Given the description of an element on the screen output the (x, y) to click on. 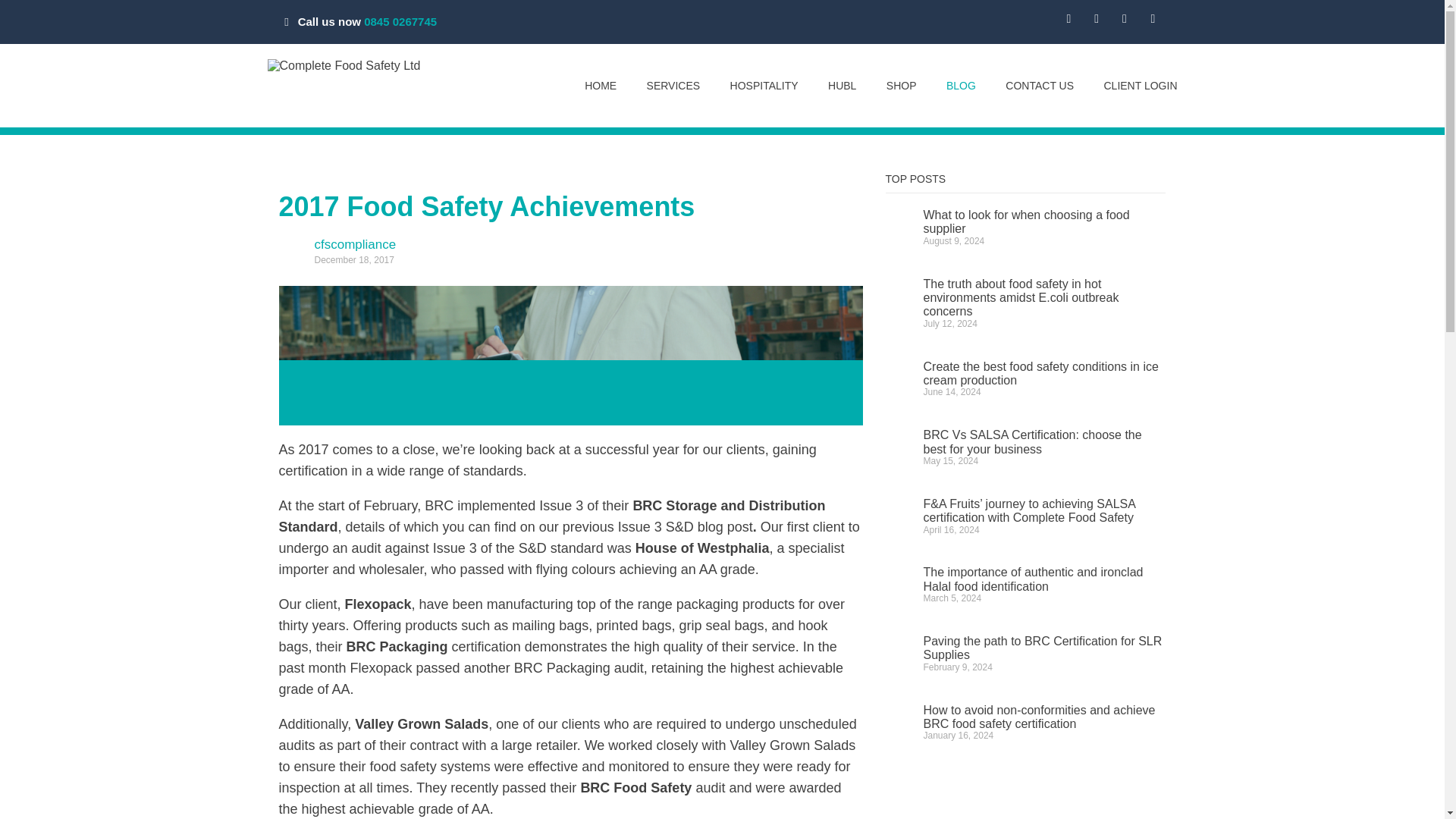
CONTACT US (1040, 85)
BRC Food Safety (635, 786)
CLIENT LOGIN (1140, 85)
BRC Storage and Distribution Standard (552, 515)
SERVICES (673, 85)
SHOP (901, 85)
HUBL (842, 85)
BRC Packaging (397, 645)
HOSPITALITY (763, 85)
HOME (600, 85)
